Given the description of an element on the screen output the (x, y) to click on. 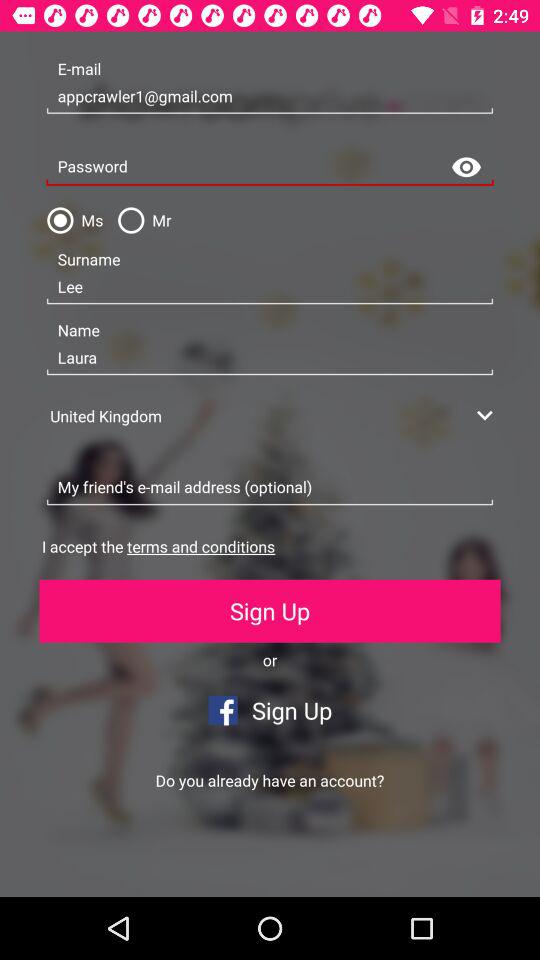
jump until laura icon (269, 357)
